Given the description of an element on the screen output the (x, y) to click on. 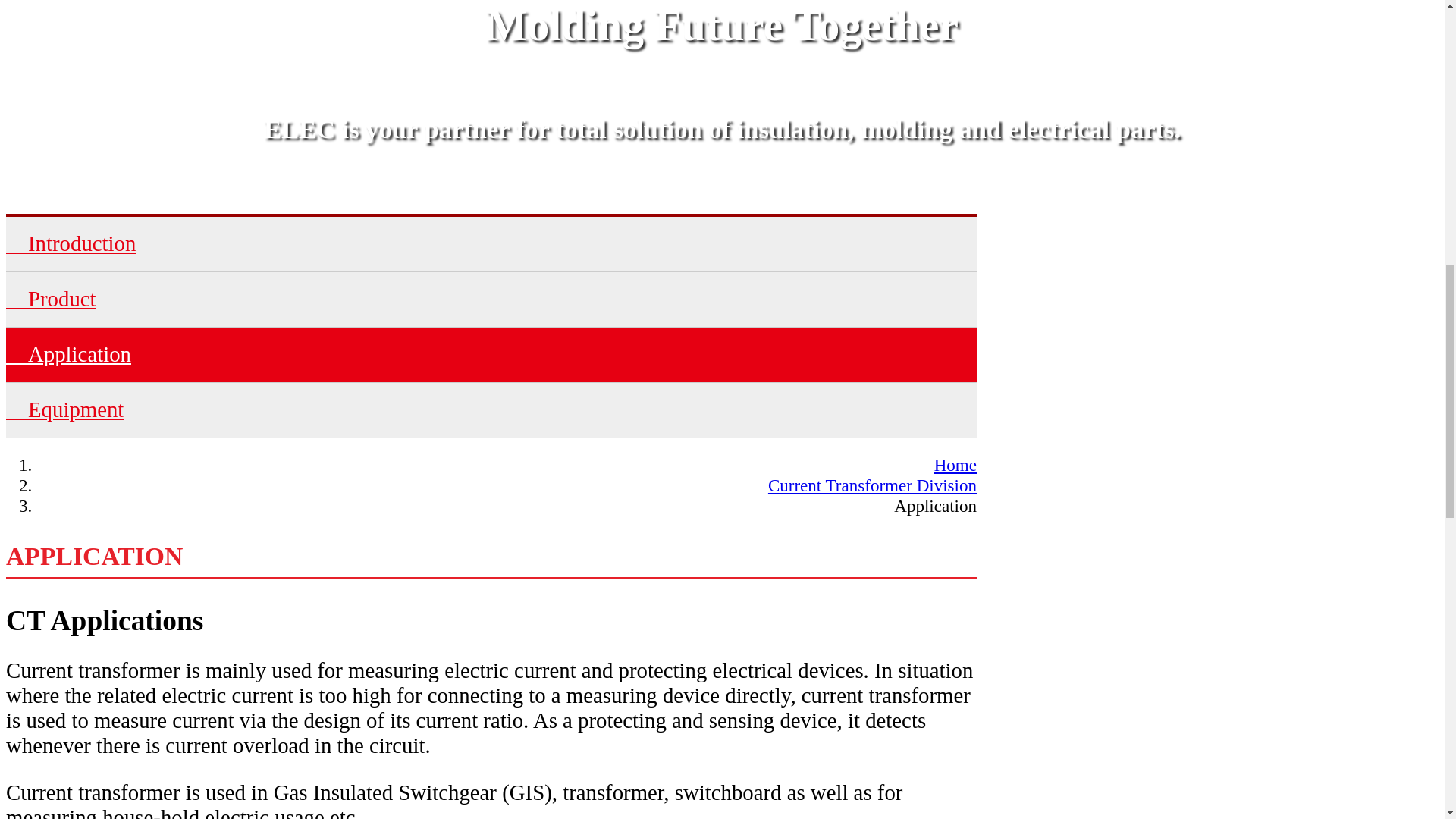
Introduction (490, 244)
Current Transformer Division (872, 485)
Application (490, 354)
Equipment (490, 410)
Product (490, 298)
Home (955, 465)
